Given the description of an element on the screen output the (x, y) to click on. 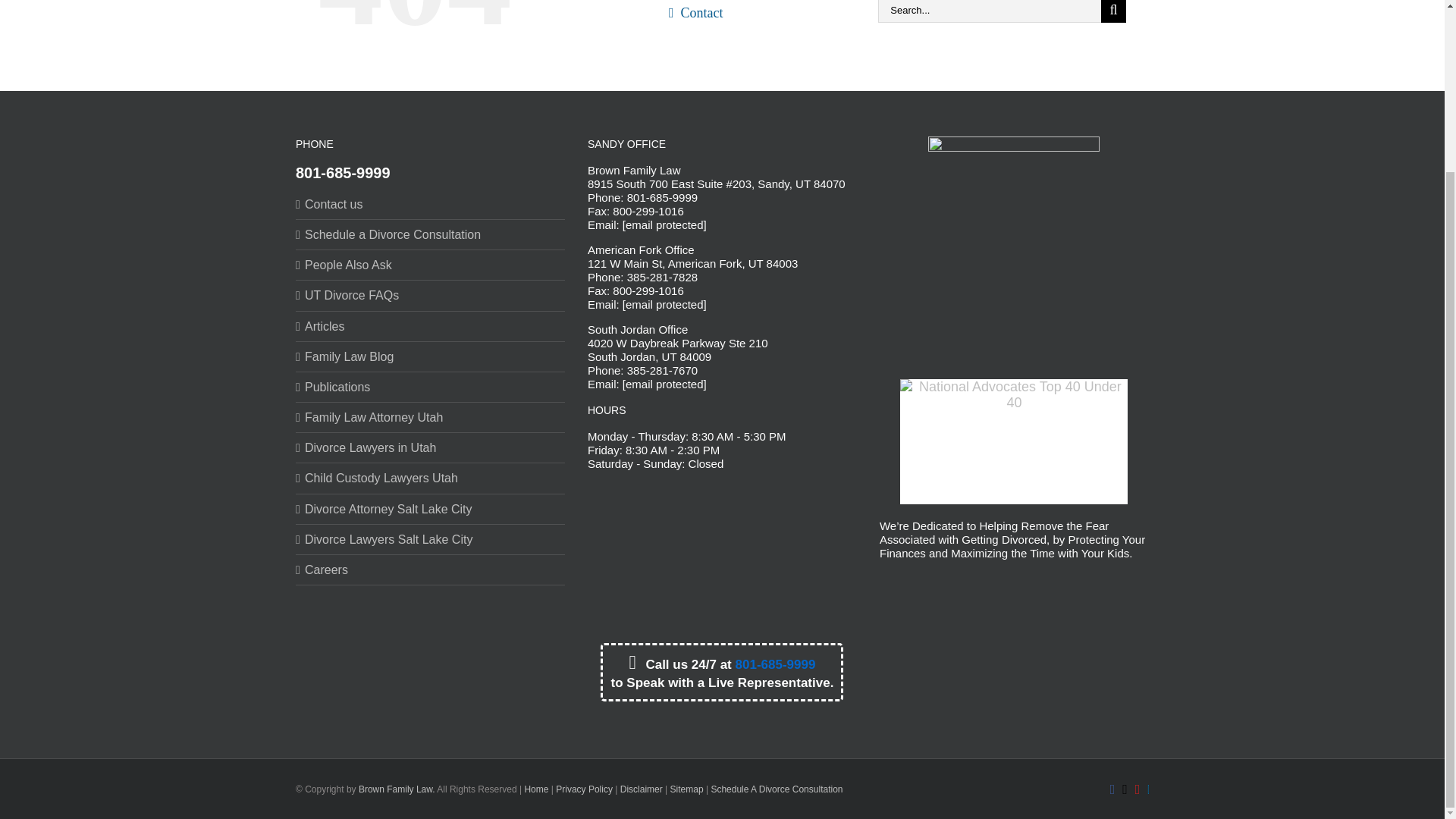
Publications (430, 386)
Schedule a Divorce Consultation (430, 234)
Divorce Lawyers Salt Lake City (430, 539)
People Also Ask (430, 264)
Family Law Blog (430, 356)
FAQ (753, 2)
Child Custody Lawyers Utah (430, 477)
Family Law Attorney Utah (430, 417)
Contact us (430, 204)
Articles (430, 326)
801-685-9999 (342, 172)
Divorce Lawyers in Utah (430, 447)
Divorce Attorney Salt Lake City (430, 509)
UT Divorce FAQs (430, 295)
Contact (753, 18)
